Given the description of an element on the screen output the (x, y) to click on. 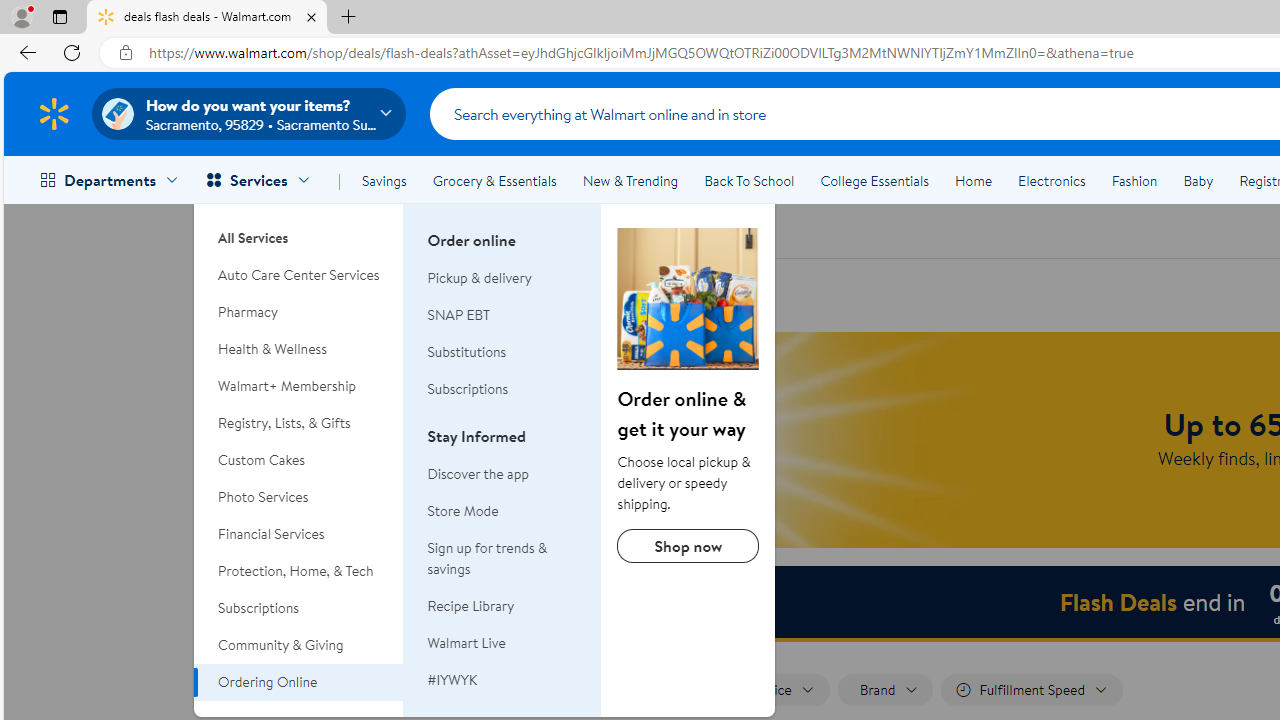
Registry, Lists, & Gifts (299, 423)
Custom Cakes (299, 460)
Back To School (749, 180)
Pharmacy (299, 312)
Community & Giving (299, 645)
Discover the app (502, 474)
Subscriptions (502, 389)
Electronics (1051, 180)
Sign up for trends & savings (502, 558)
Sign up for trends & savings (487, 557)
Recipe Library (502, 606)
Filter by Brand not applied, activate to change (885, 690)
Filter by Fulfillment Speed not applied, activate to change (1031, 690)
Substitutions (466, 352)
